Given the description of an element on the screen output the (x, y) to click on. 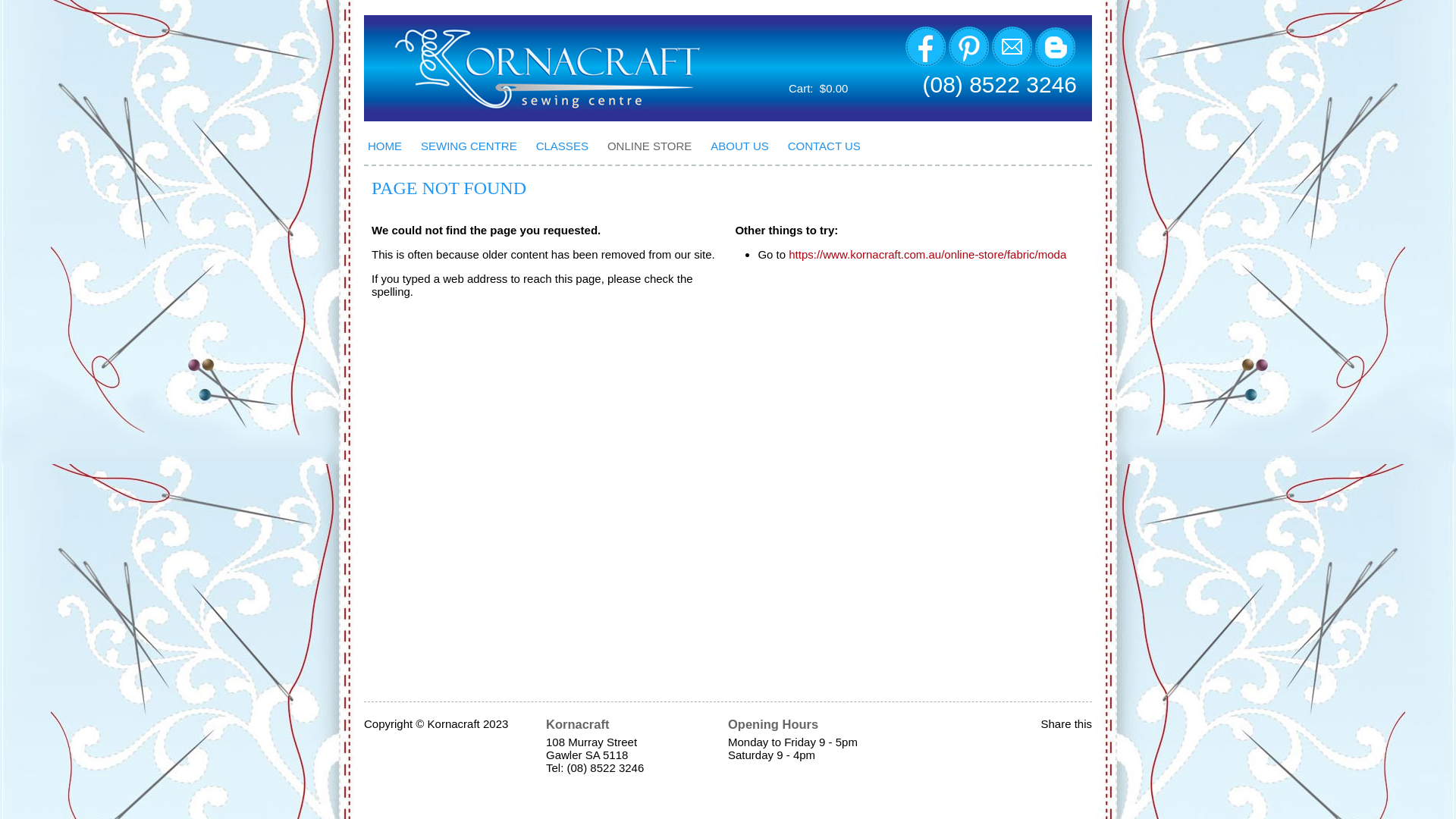
SEWING CENTRE Element type: text (474, 145)
Back to home page Element type: hover (534, 68)
ONLINE STORE Element type: text (654, 145)
HOME Element type: text (390, 145)
Cart:  $0.00 Element type: text (817, 87)
CONTACT US Element type: text (829, 145)
CLASSES Element type: text (567, 145)
ABOUT US Element type: text (744, 145)
https://www.kornacraft.com.au/online-store/fabric/moda Element type: text (927, 253)
